Given the description of an element on the screen output the (x, y) to click on. 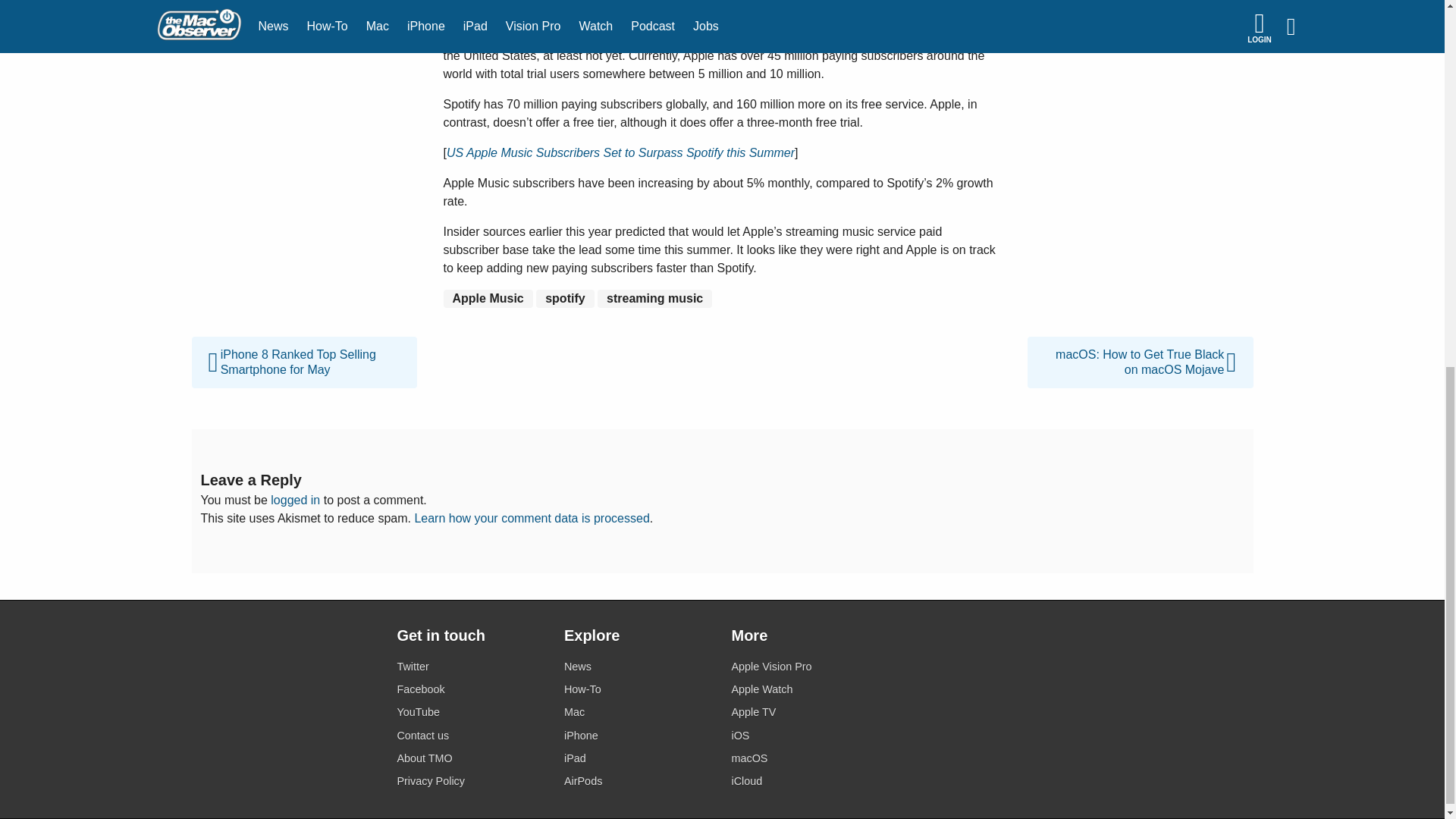
Twitter (471, 666)
Apple Music (487, 298)
Mac (638, 711)
Contact us (471, 735)
logged in (295, 499)
streaming music (653, 298)
YouTube (471, 711)
Privacy Policy (471, 781)
spotify (564, 298)
